Given the description of an element on the screen output the (x, y) to click on. 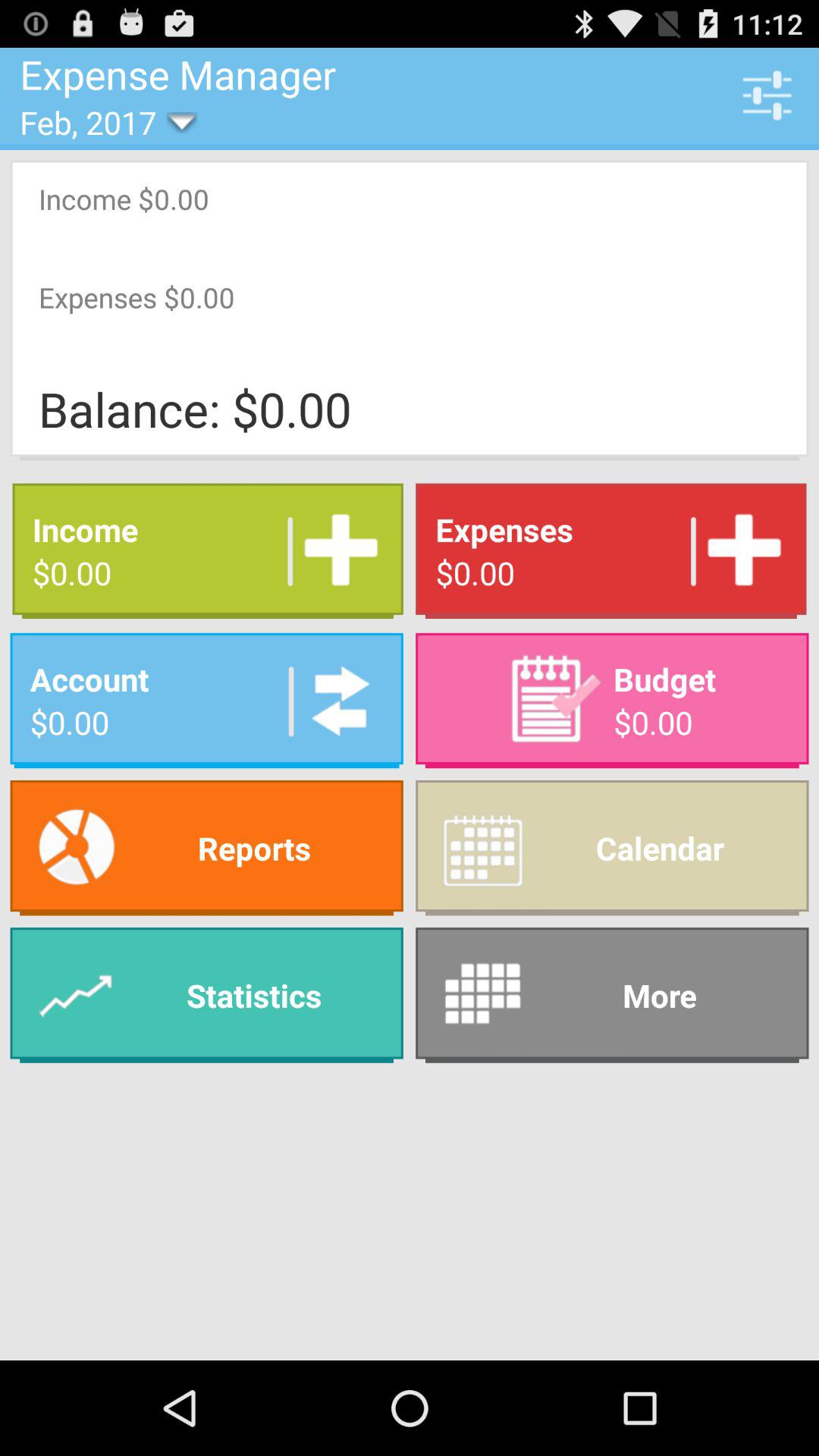
tap item to the right of reports (611, 847)
